Given the description of an element on the screen output the (x, y) to click on. 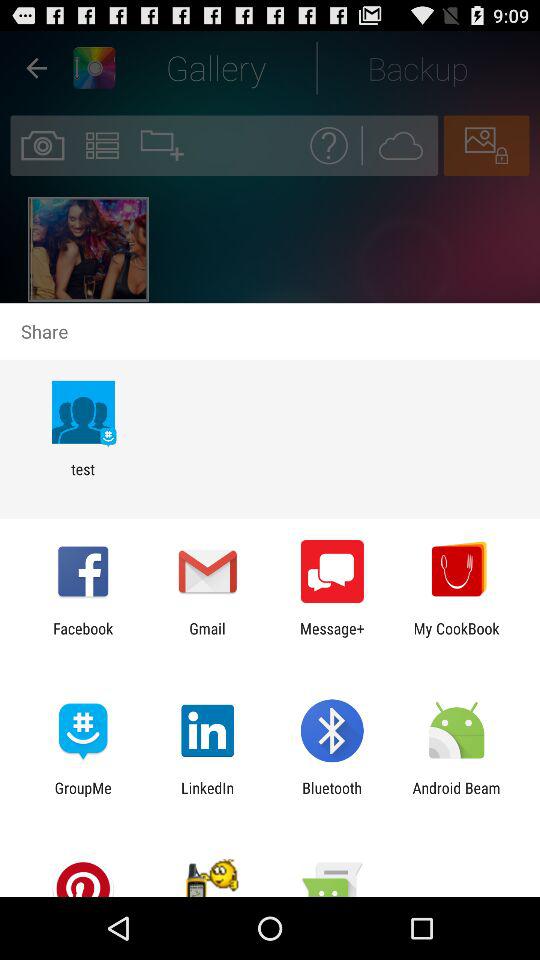
jump to gmail icon (207, 637)
